Given the description of an element on the screen output the (x, y) to click on. 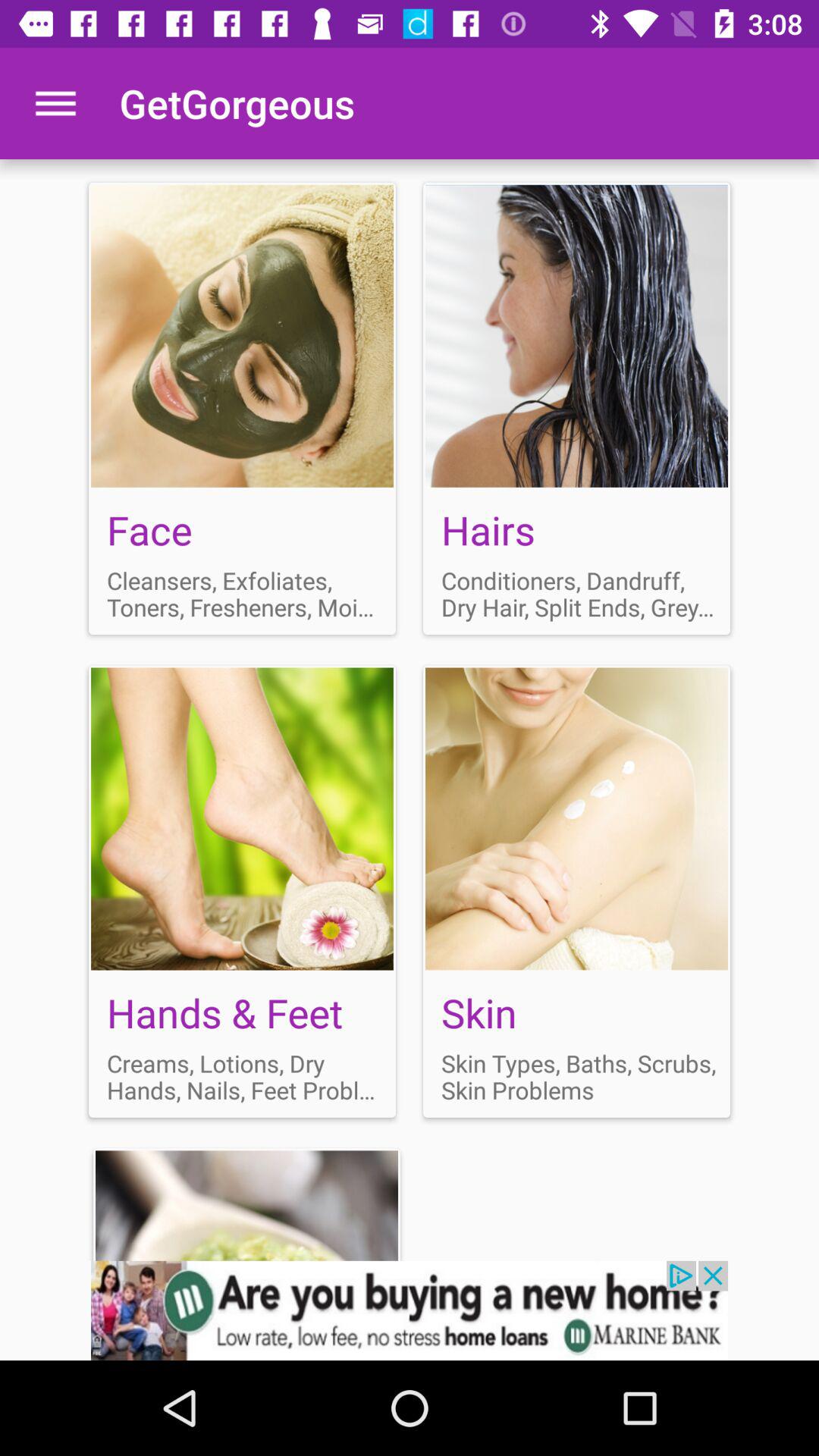
hair conditioner (576, 408)
